Given the description of an element on the screen output the (x, y) to click on. 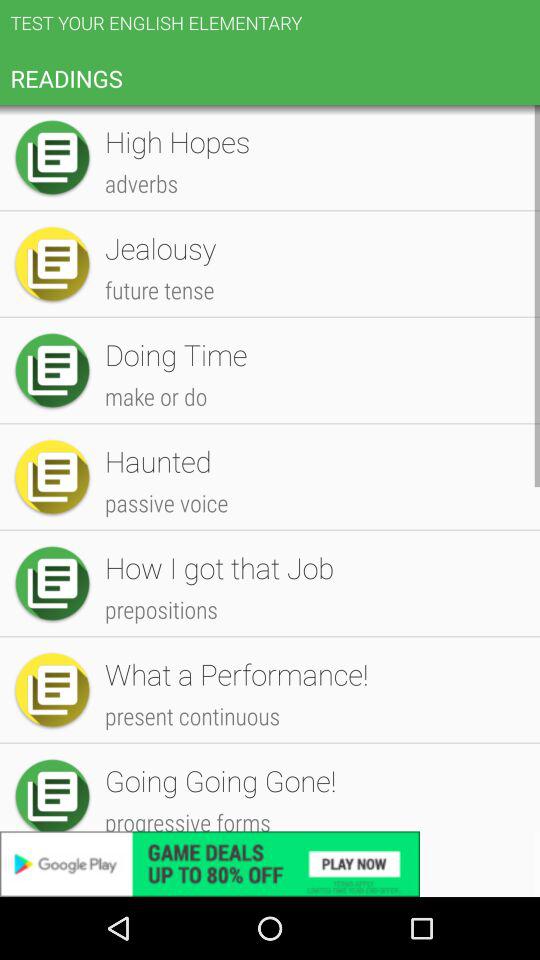
launch icon below the millionaire (311, 625)
